Given the description of an element on the screen output the (x, y) to click on. 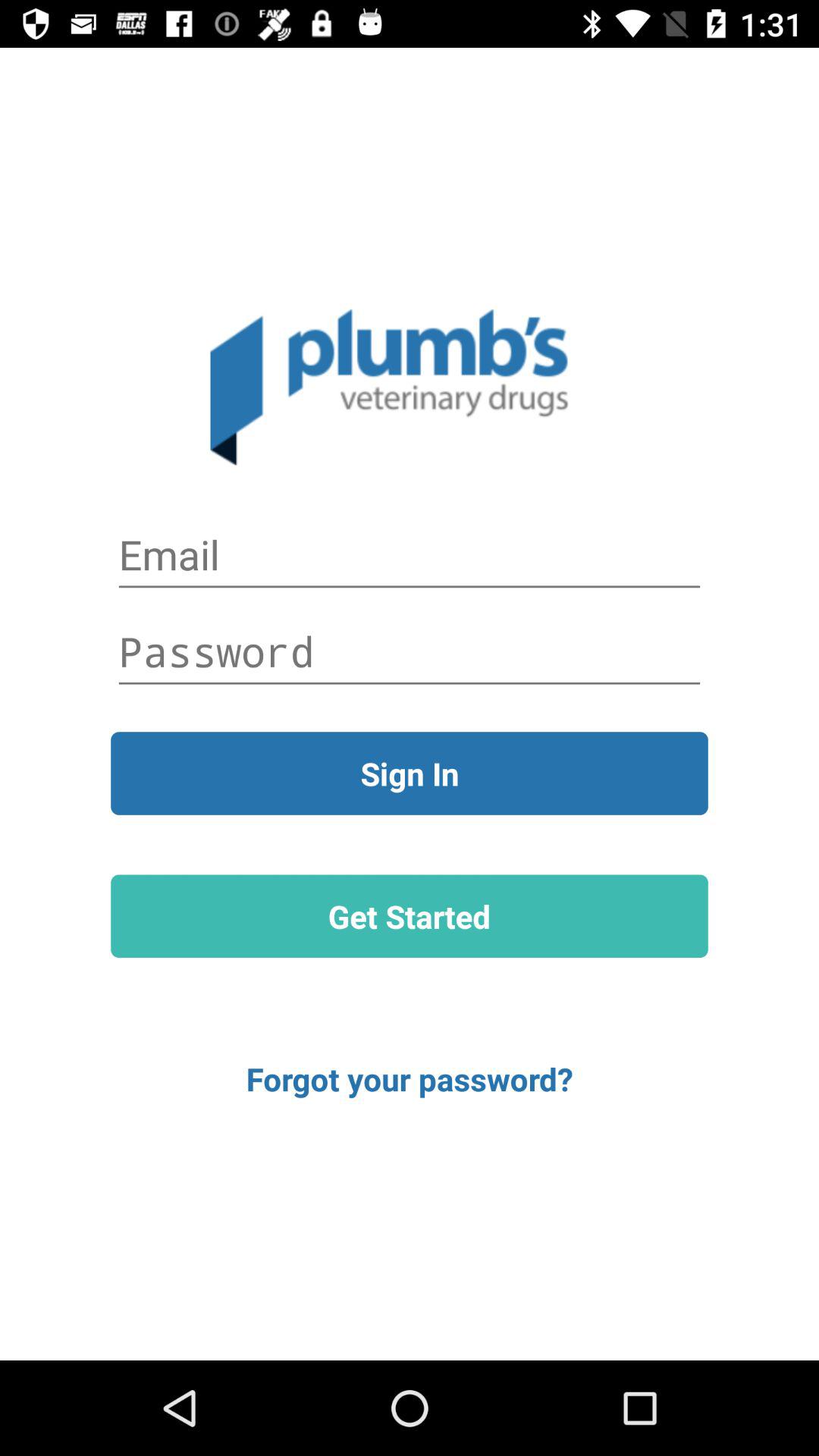
turn off the icon above the forgot your password? item (409, 915)
